Given the description of an element on the screen output the (x, y) to click on. 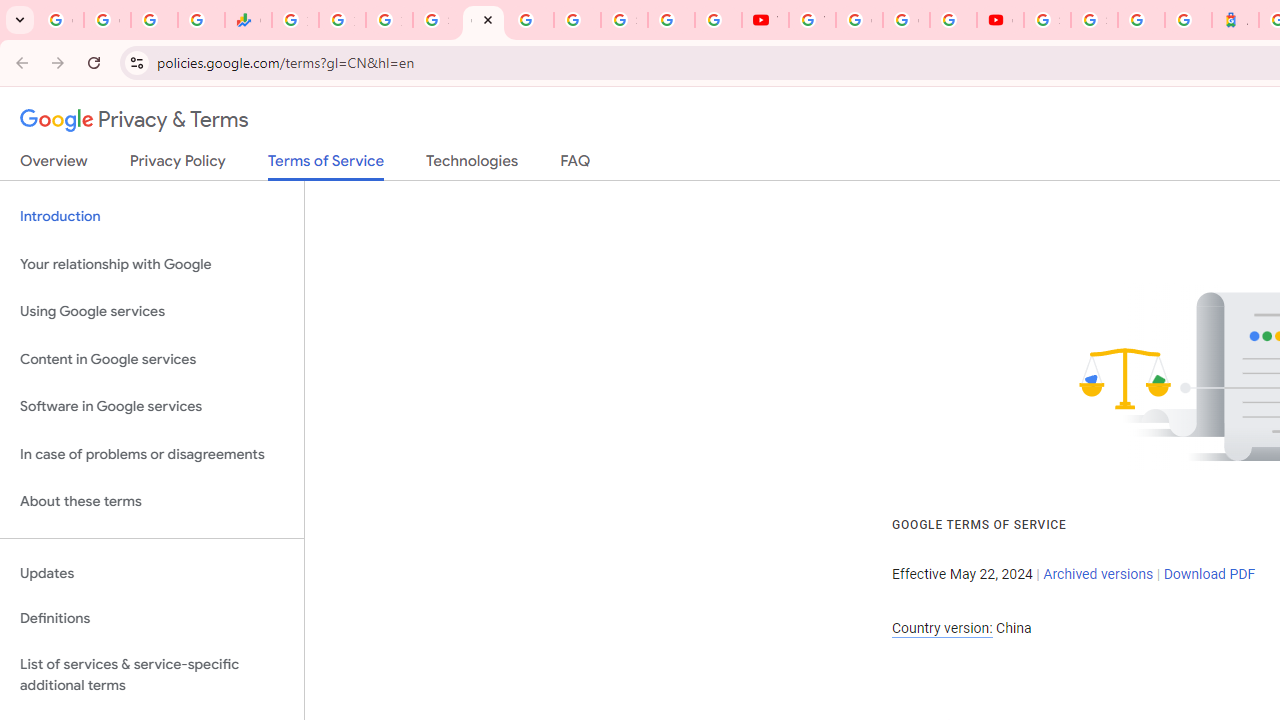
Your relationship with Google (152, 263)
Sign in - Google Accounts (1047, 20)
Create your Google Account (906, 20)
YouTube (765, 20)
